Given the description of an element on the screen output the (x, y) to click on. 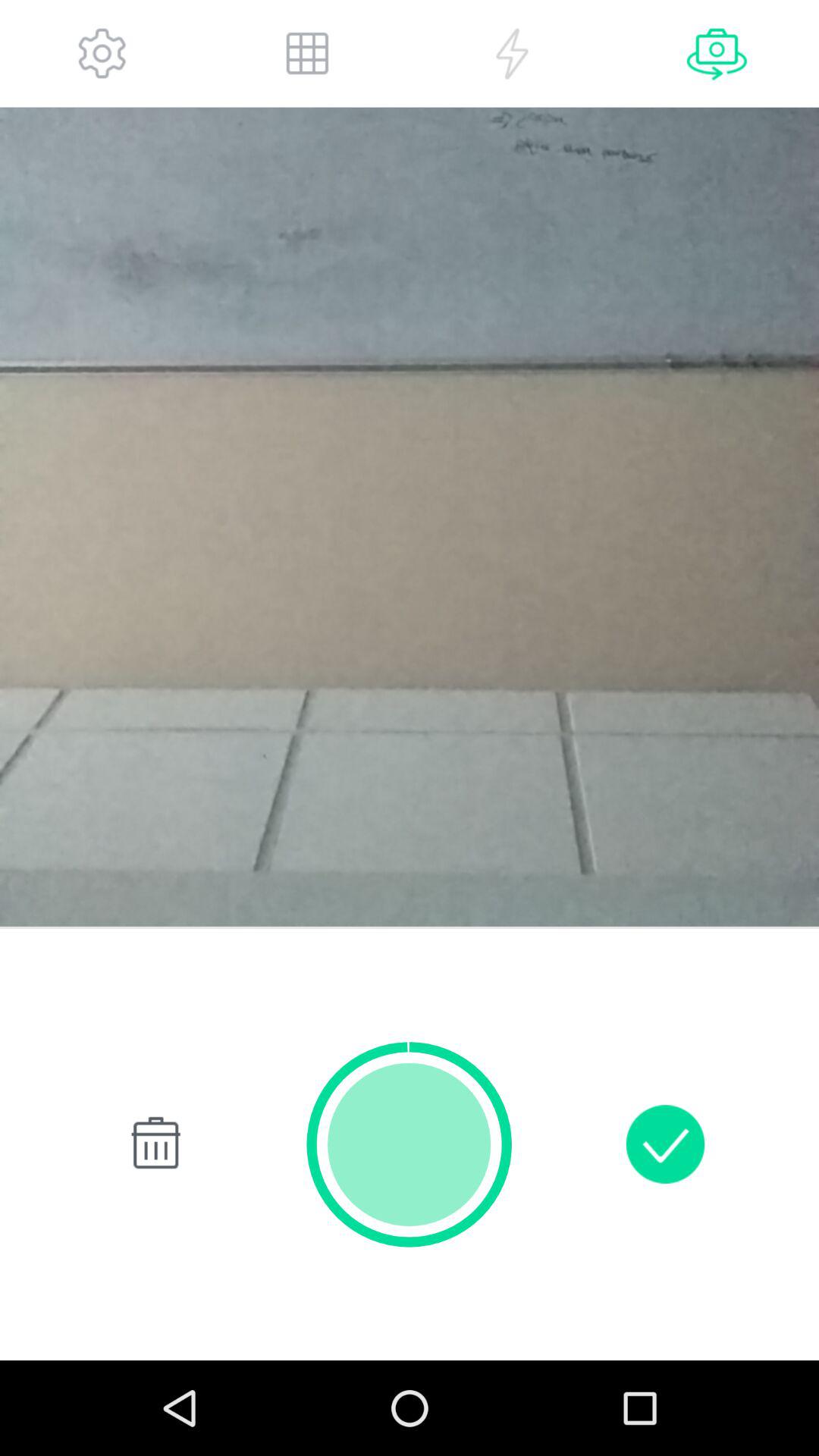
buttons to setting (102, 53)
